Given the description of an element on the screen output the (x, y) to click on. 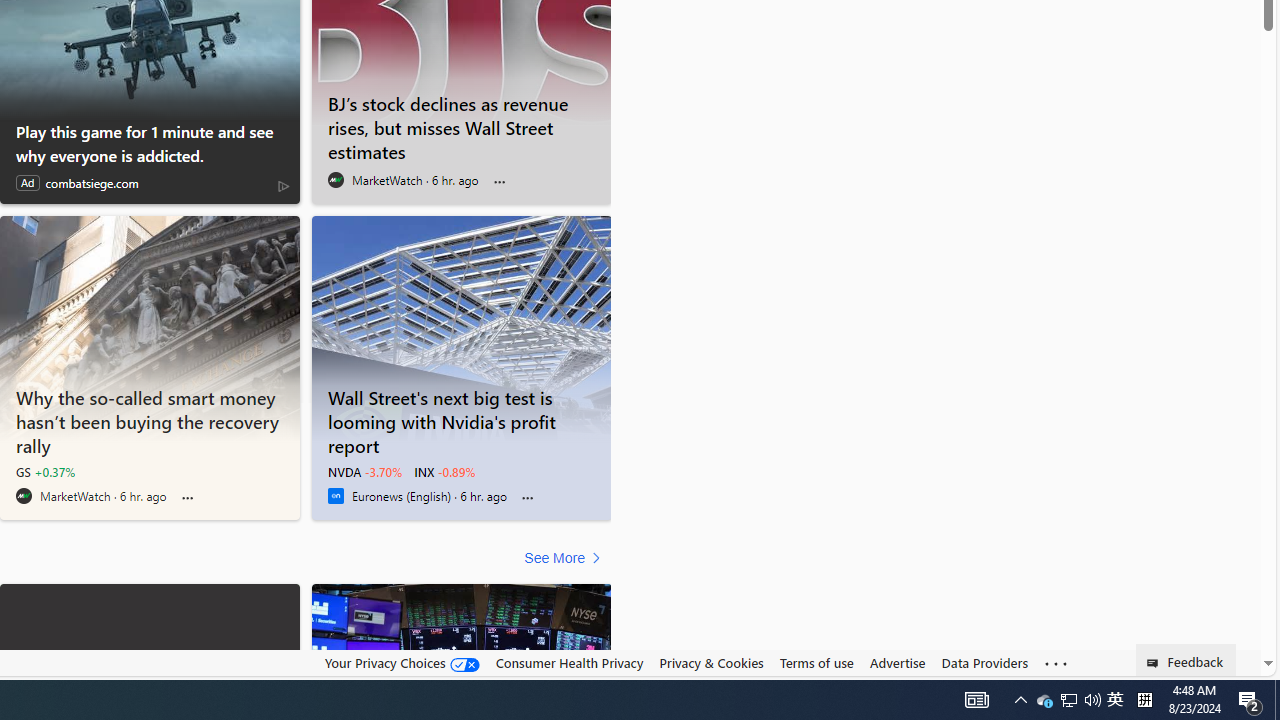
Terms of use (816, 662)
Terms of use (816, 663)
NVDA -3.70% (363, 471)
AdChoices (283, 184)
AdChoices (283, 186)
Advertise (897, 662)
Ad (27, 183)
Data Providers (983, 662)
Your Privacy Choices (401, 662)
See More (565, 557)
Privacy & Cookies (711, 663)
Consumer Health Privacy (569, 662)
INX -0.89% (444, 471)
